Given the description of an element on the screen output the (x, y) to click on. 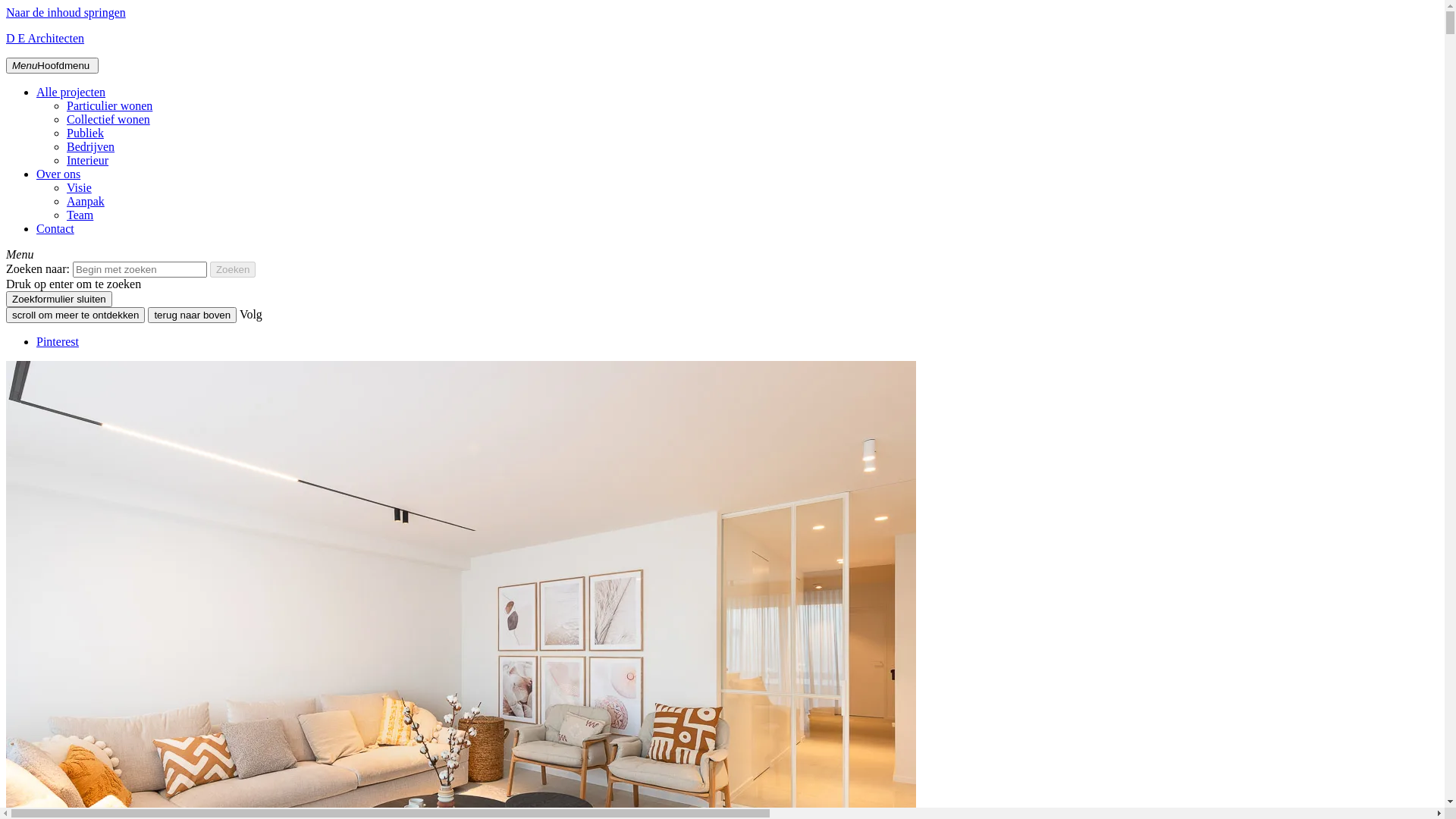
terug naar boven Element type: text (191, 315)
Contact Element type: text (55, 228)
Naar de inhoud springen Element type: text (65, 12)
Aanpak Element type: text (85, 200)
Interieur Element type: text (87, 159)
Alle projecten Element type: text (70, 91)
Bedrijven Element type: text (90, 146)
Zoekformulier sluiten Element type: text (59, 299)
Pinterest Element type: text (57, 341)
Publiek Element type: text (84, 132)
Collectief wonen Element type: text (108, 118)
Zoeken Element type: text (232, 269)
Over ons Element type: text (58, 173)
Particulier wonen Element type: text (109, 105)
Visie Element type: text (78, 187)
MenuHoofdmenu  Element type: text (52, 65)
D E Architecten Element type: text (45, 37)
Team Element type: text (79, 214)
scroll om meer te ontdekken Element type: text (75, 315)
